Given the description of an element on the screen output the (x, y) to click on. 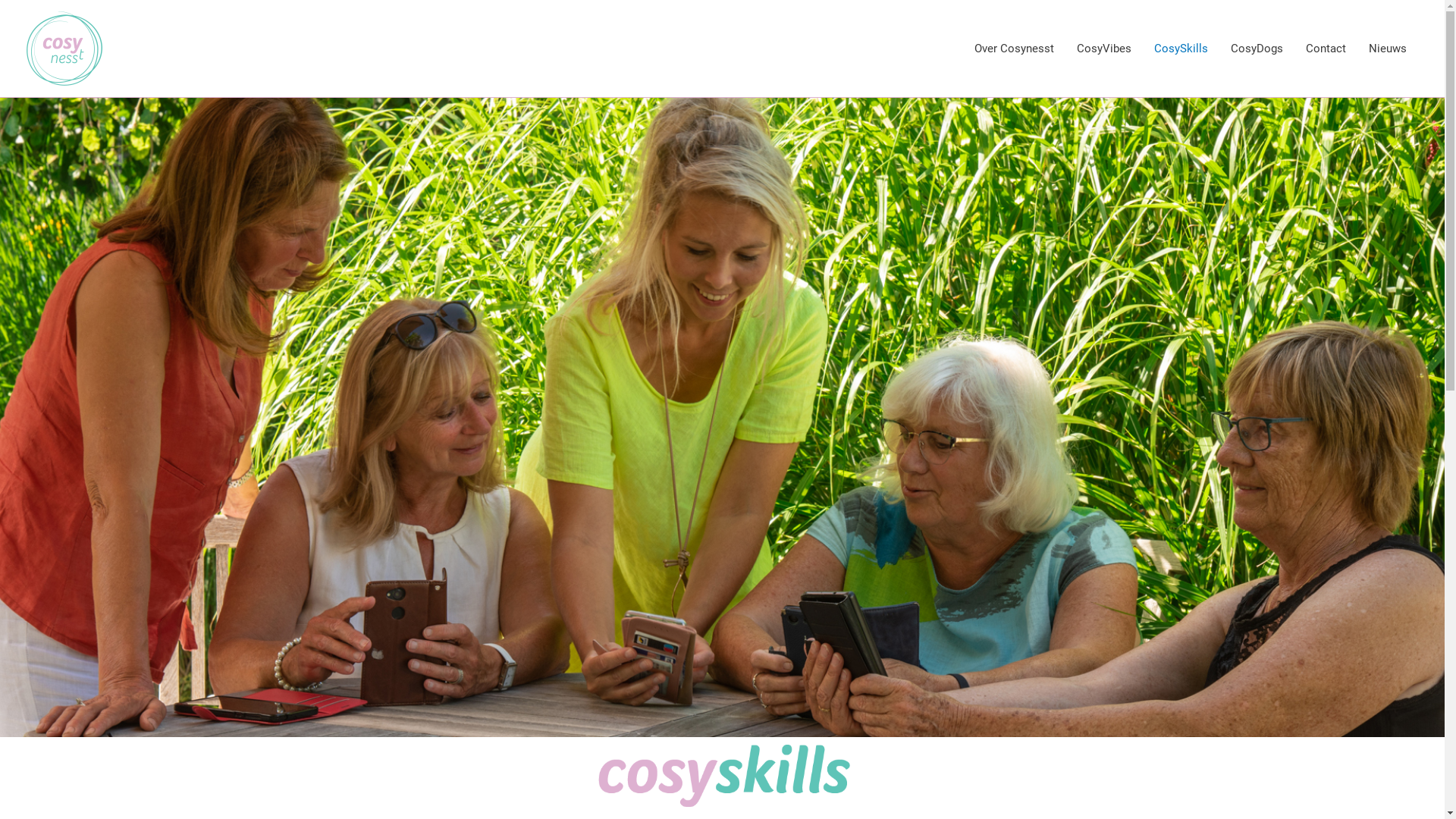
CosyDogs Element type: text (1256, 48)
Over Cosynesst Element type: text (1014, 48)
Nieuws Element type: text (1387, 48)
Contact Element type: text (1325, 48)
CosyVibes Element type: text (1103, 48)
CosySkills Element type: text (1180, 48)
